Given the description of an element on the screen output the (x, y) to click on. 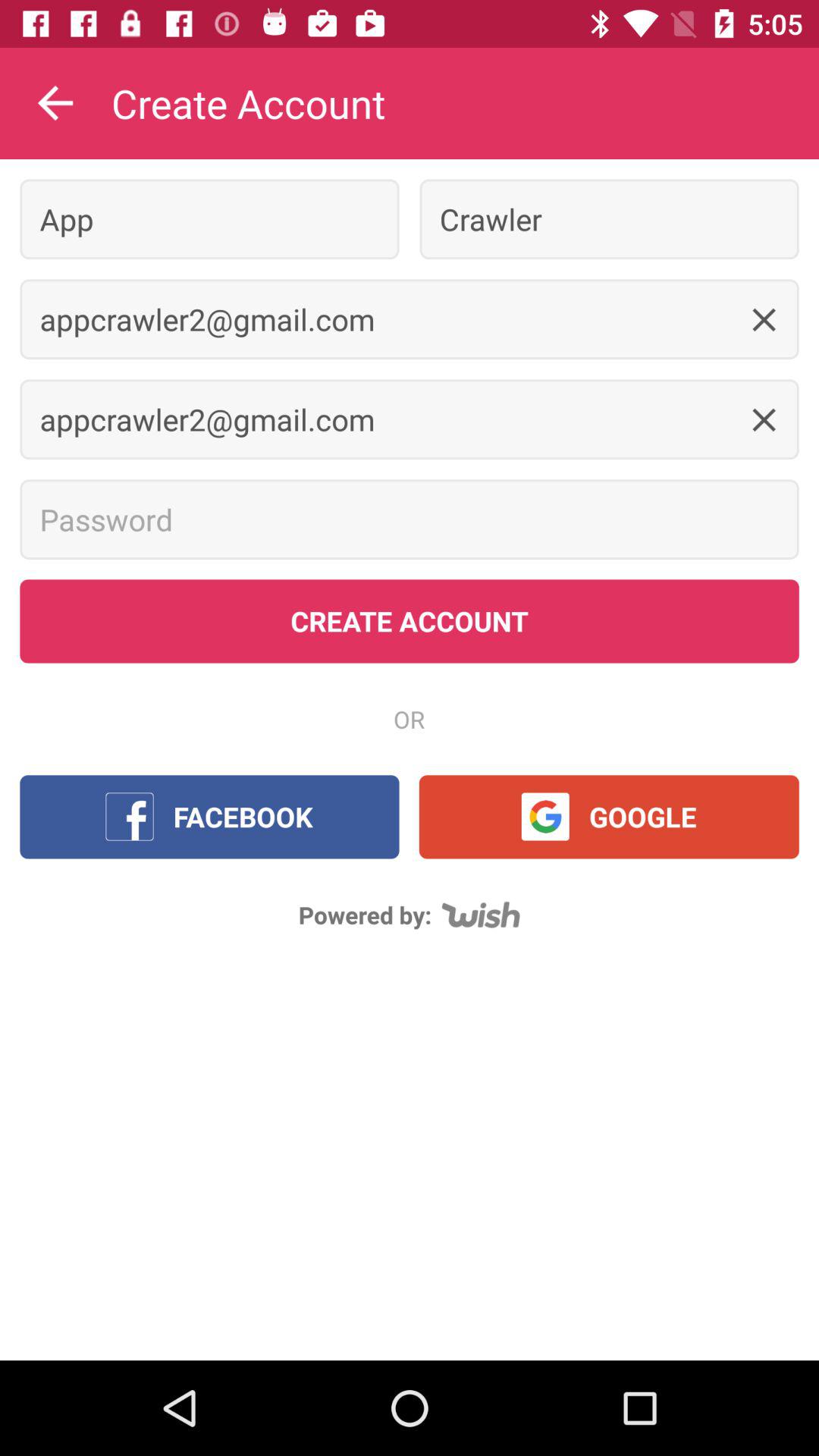
launch item below the create account (209, 219)
